Given the description of an element on the screen output the (x, y) to click on. 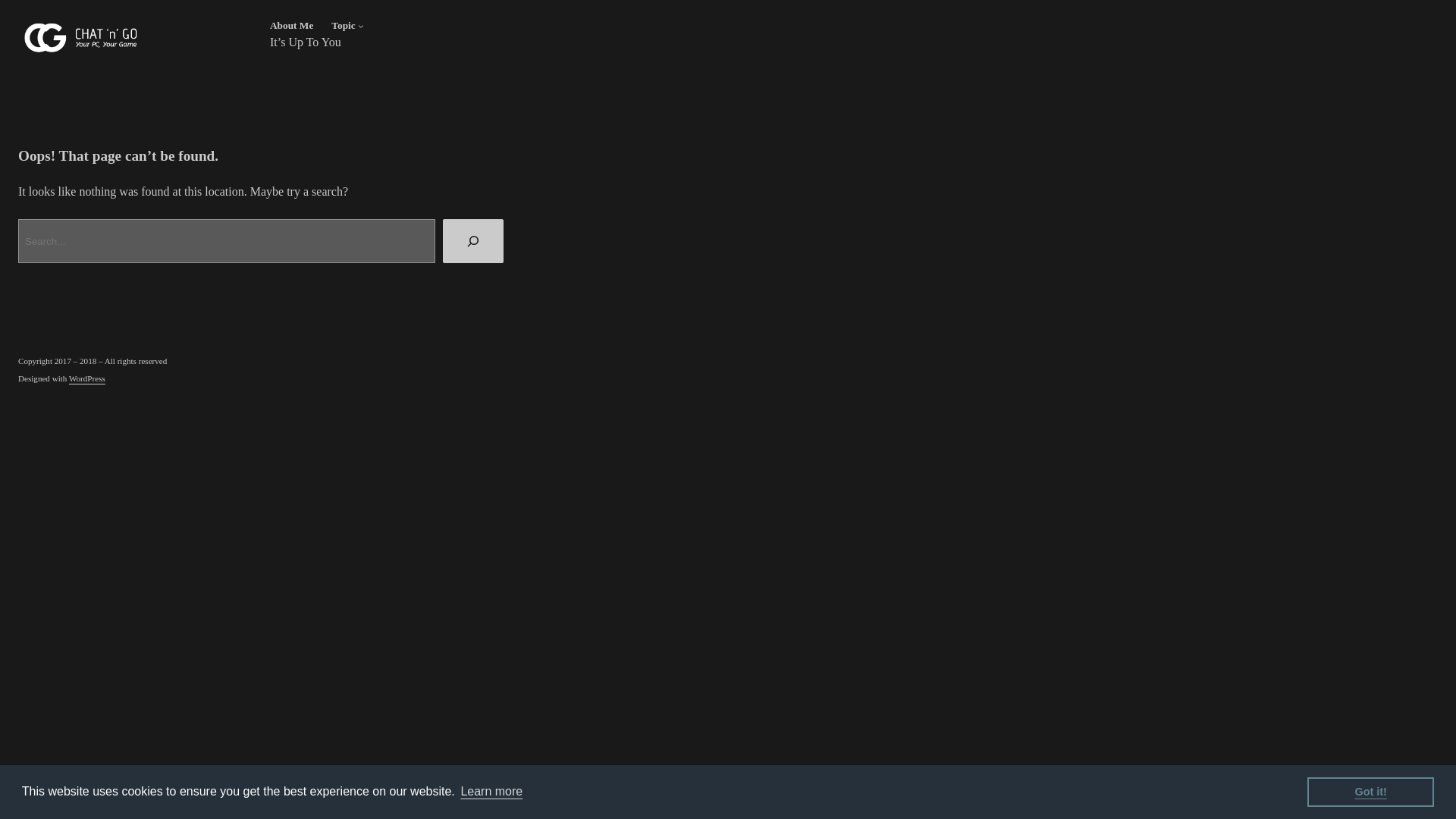
WordPress (86, 378)
Topic (343, 25)
About Me (291, 25)
